Given the description of an element on the screen output the (x, y) to click on. 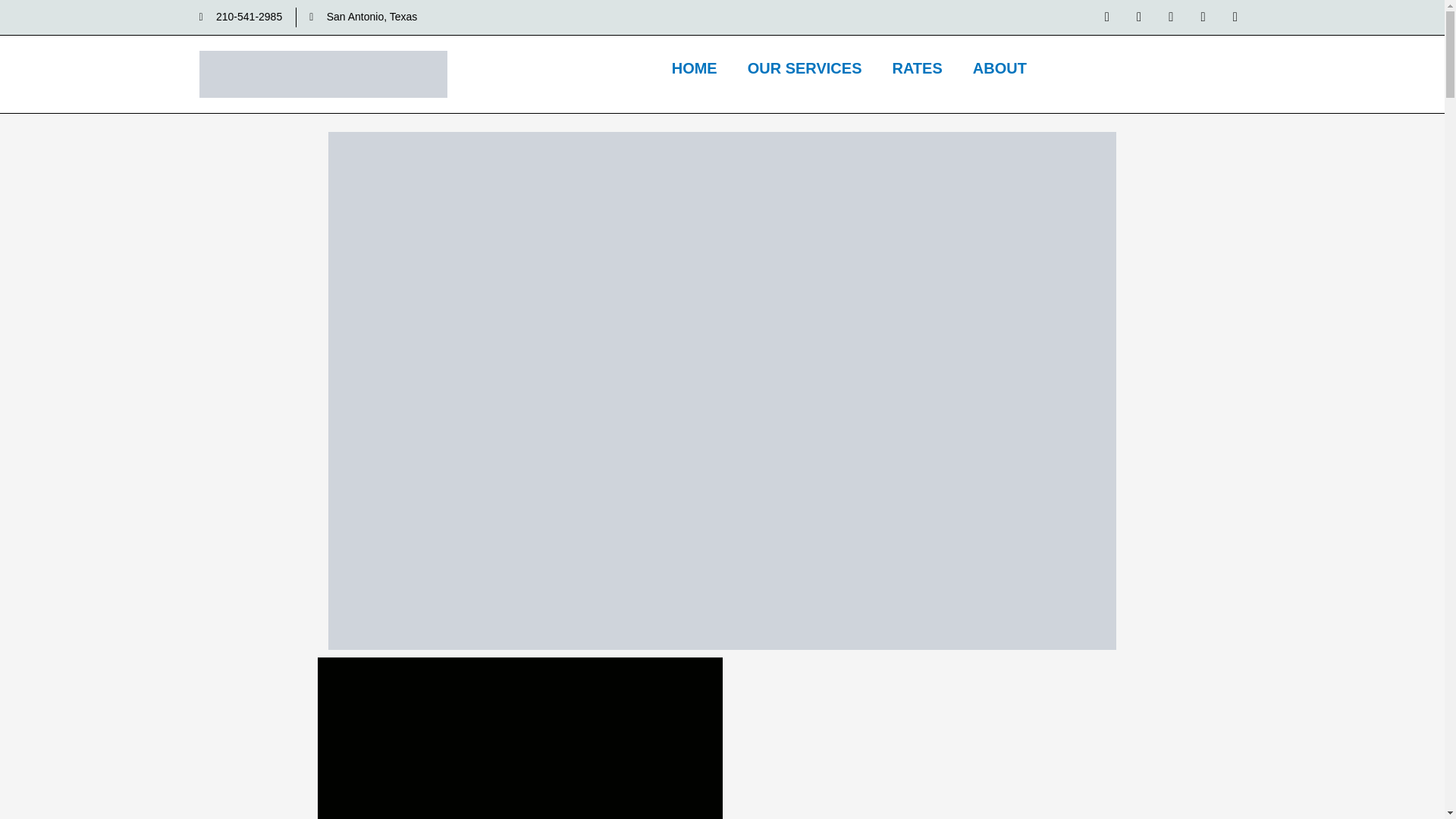
210-541-2985 (240, 17)
ABOUT (1000, 67)
OUR SERVICES (804, 67)
San Antonio, Texas (362, 17)
HOME (694, 67)
RATES (916, 67)
